Given the description of an element on the screen output the (x, y) to click on. 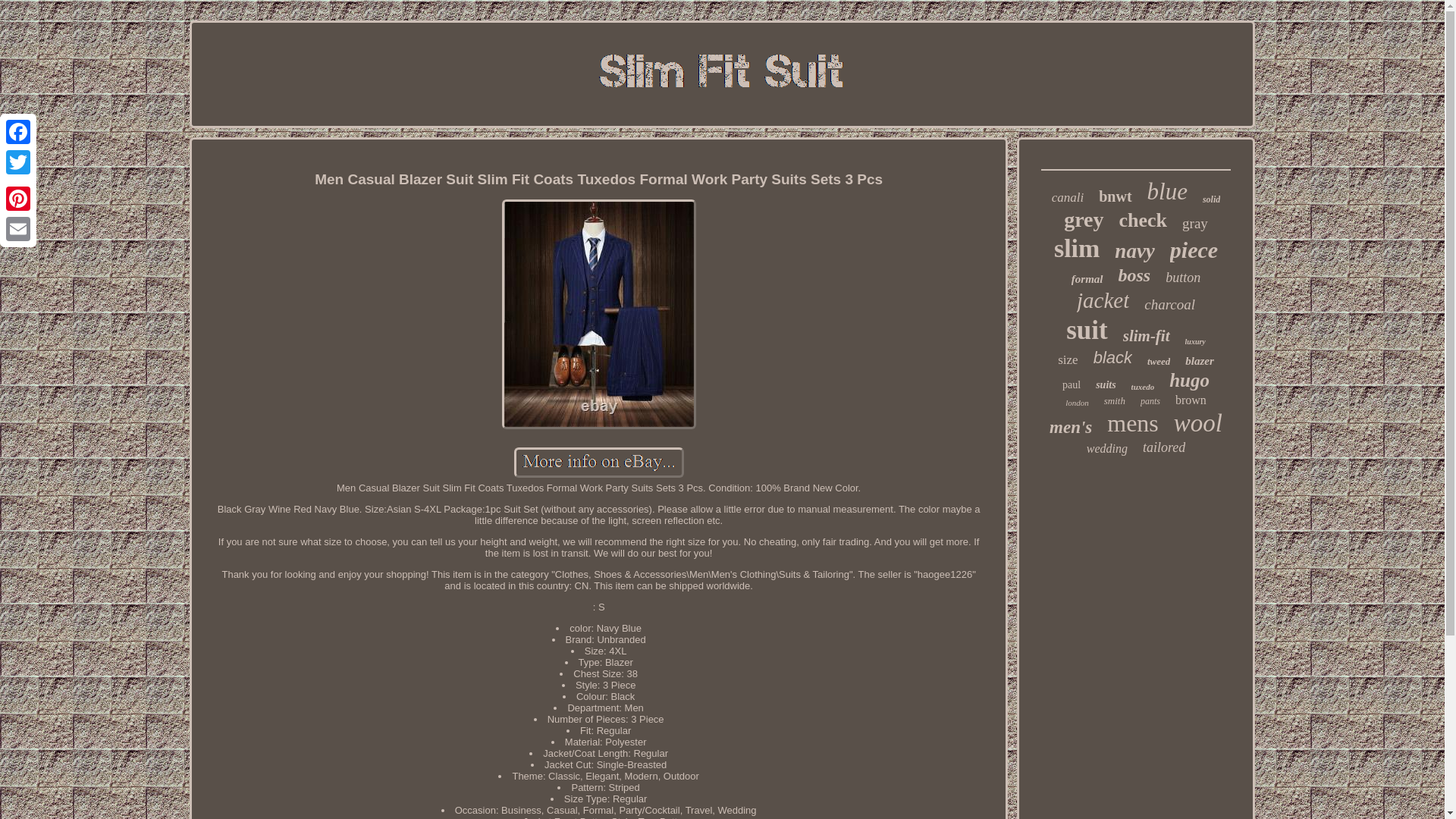
slim-fit (1146, 335)
bnwt (1115, 196)
slim (1076, 248)
blazer (1199, 360)
london (1077, 402)
suits (1105, 385)
grey (1083, 219)
gray (1195, 223)
navy (1134, 250)
paul (1071, 385)
